Given the description of an element on the screen output the (x, y) to click on. 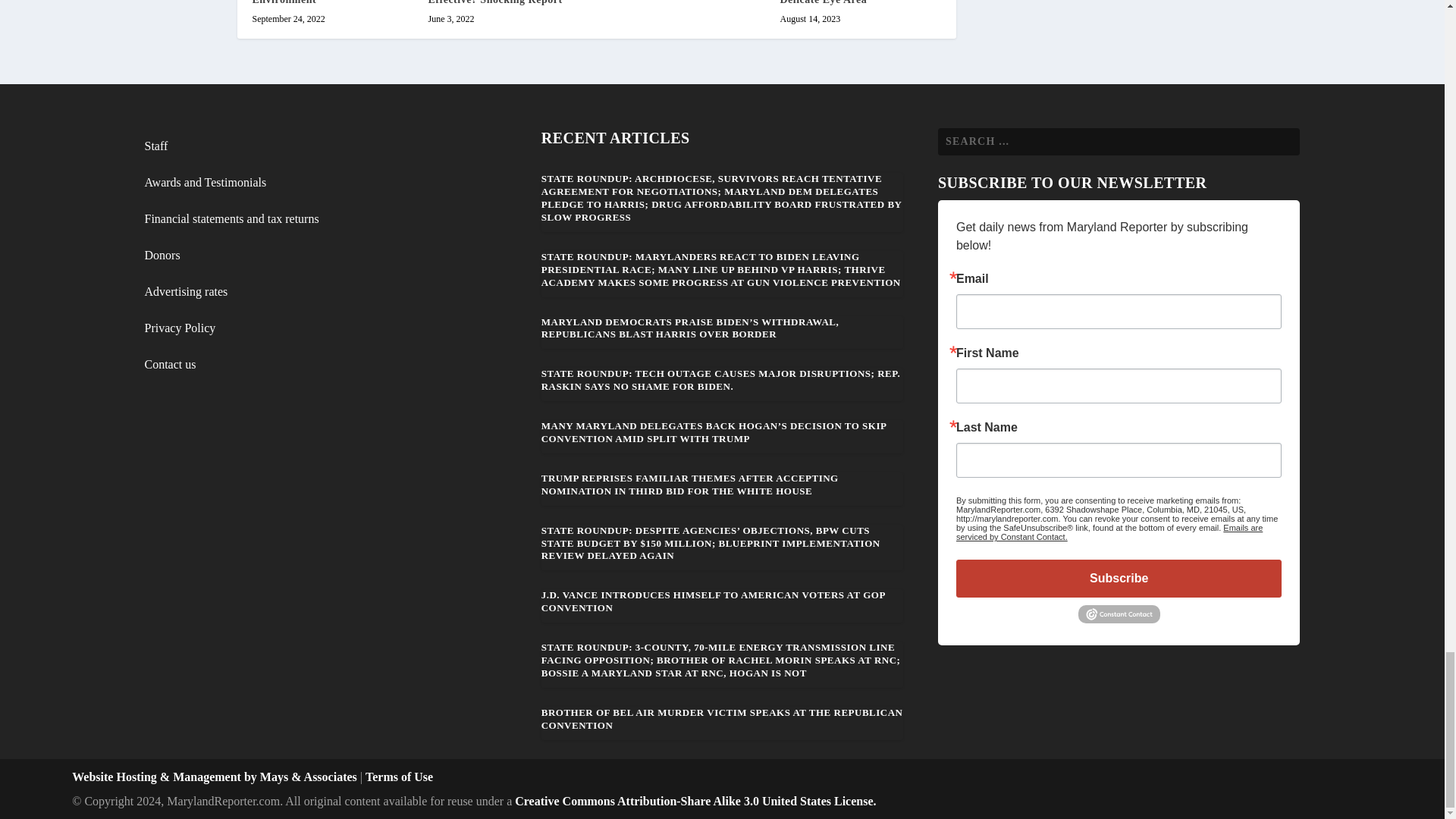
How to Engage in Civil Discourse in the Work Environment (308, 2)
